Given the description of an element on the screen output the (x, y) to click on. 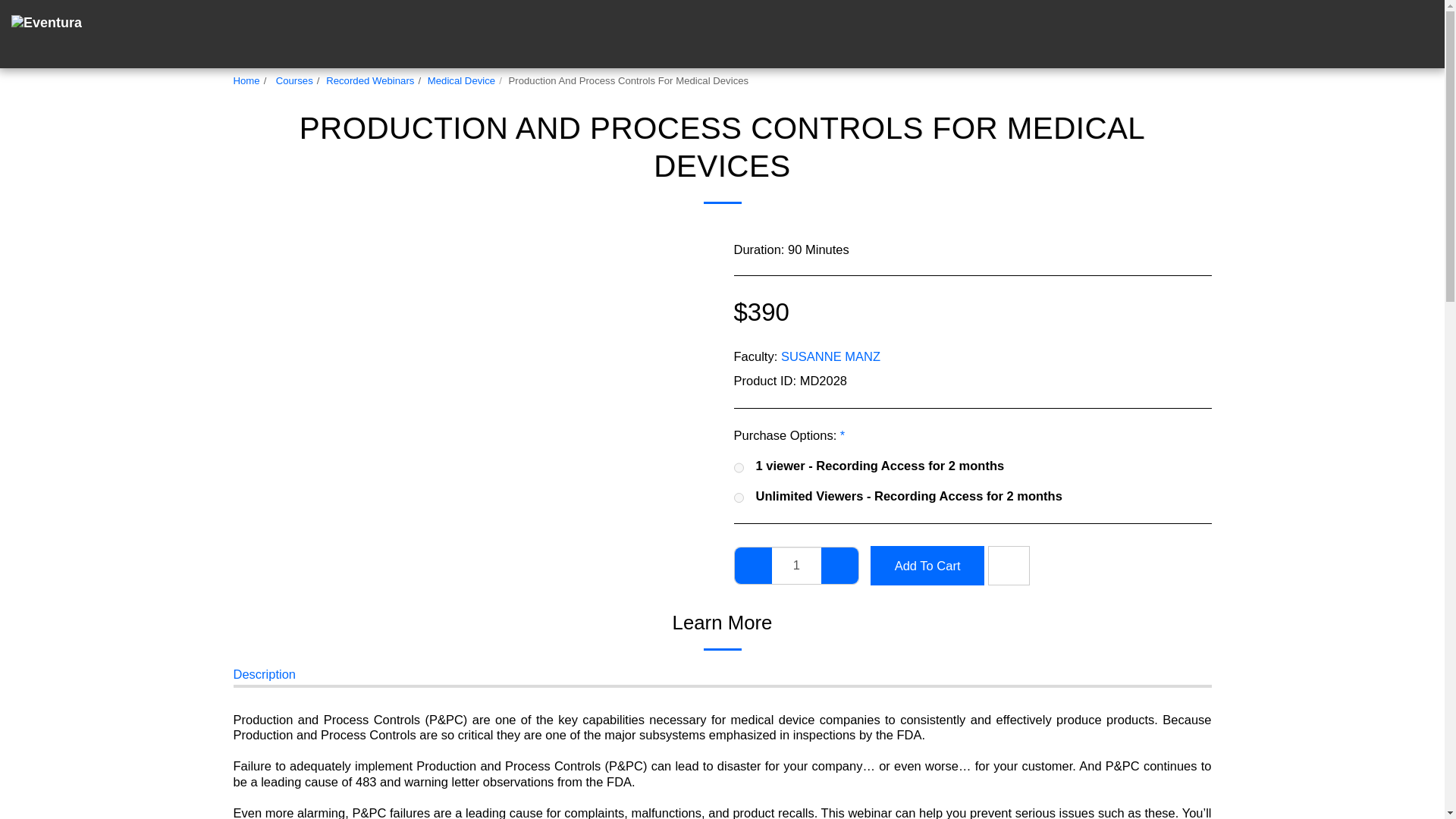
Medical Device (461, 80)
SUSANNE MANZ (830, 356)
1 (796, 565)
Description (264, 676)
Courses (293, 80)
Recorded Webinars (369, 80)
Home (246, 80)
Add To Cart (927, 565)
